Given the description of an element on the screen output the (x, y) to click on. 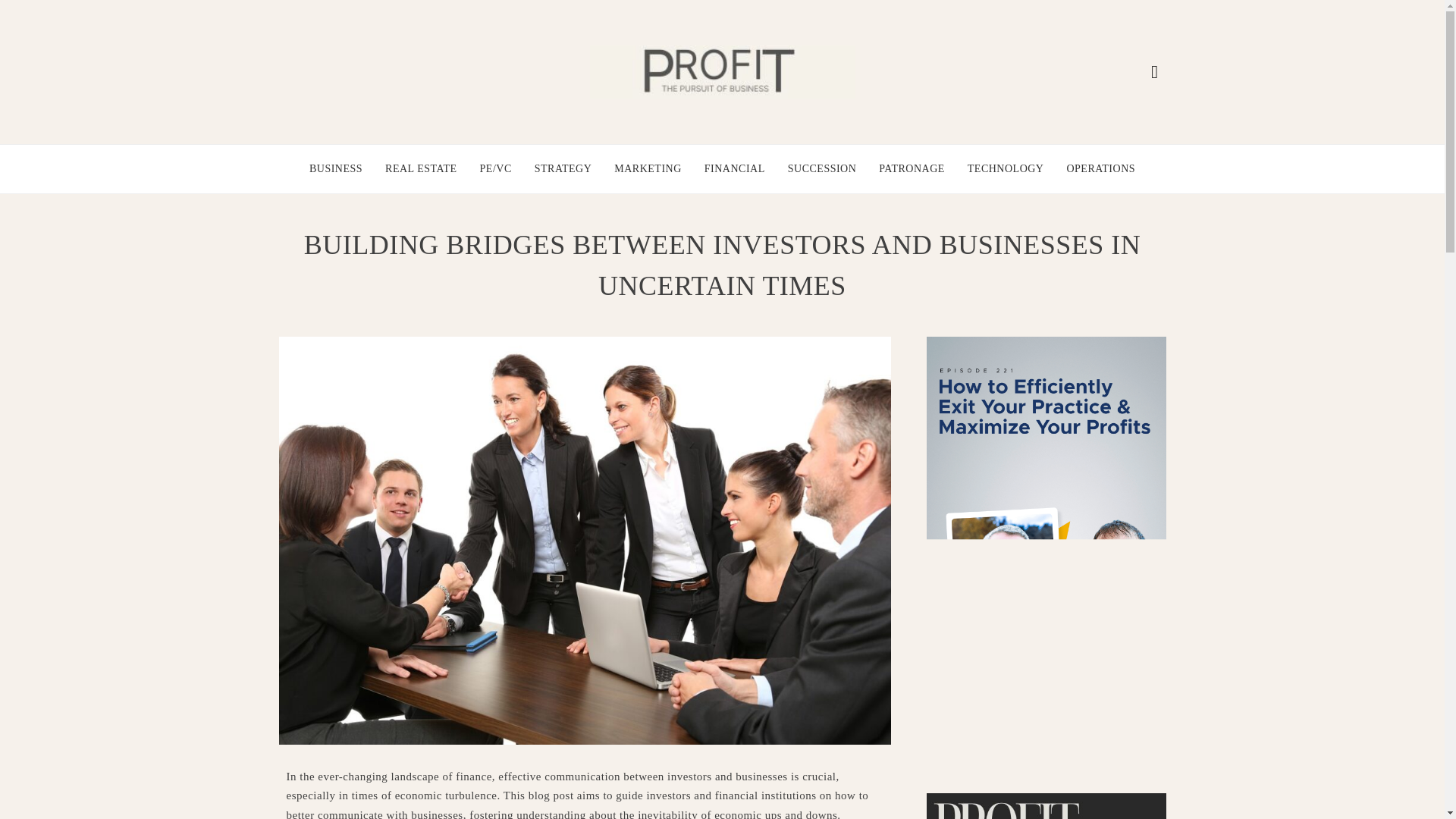
TECHNOLOGY (1005, 168)
MARKETING (647, 168)
STRATEGY (563, 168)
SUCCESSION (822, 168)
BUSINESS (335, 168)
OPERATIONS (1100, 168)
REAL ESTATE (421, 168)
FINANCIAL (734, 168)
PATRONAGE (911, 168)
